Given the description of an element on the screen output the (x, y) to click on. 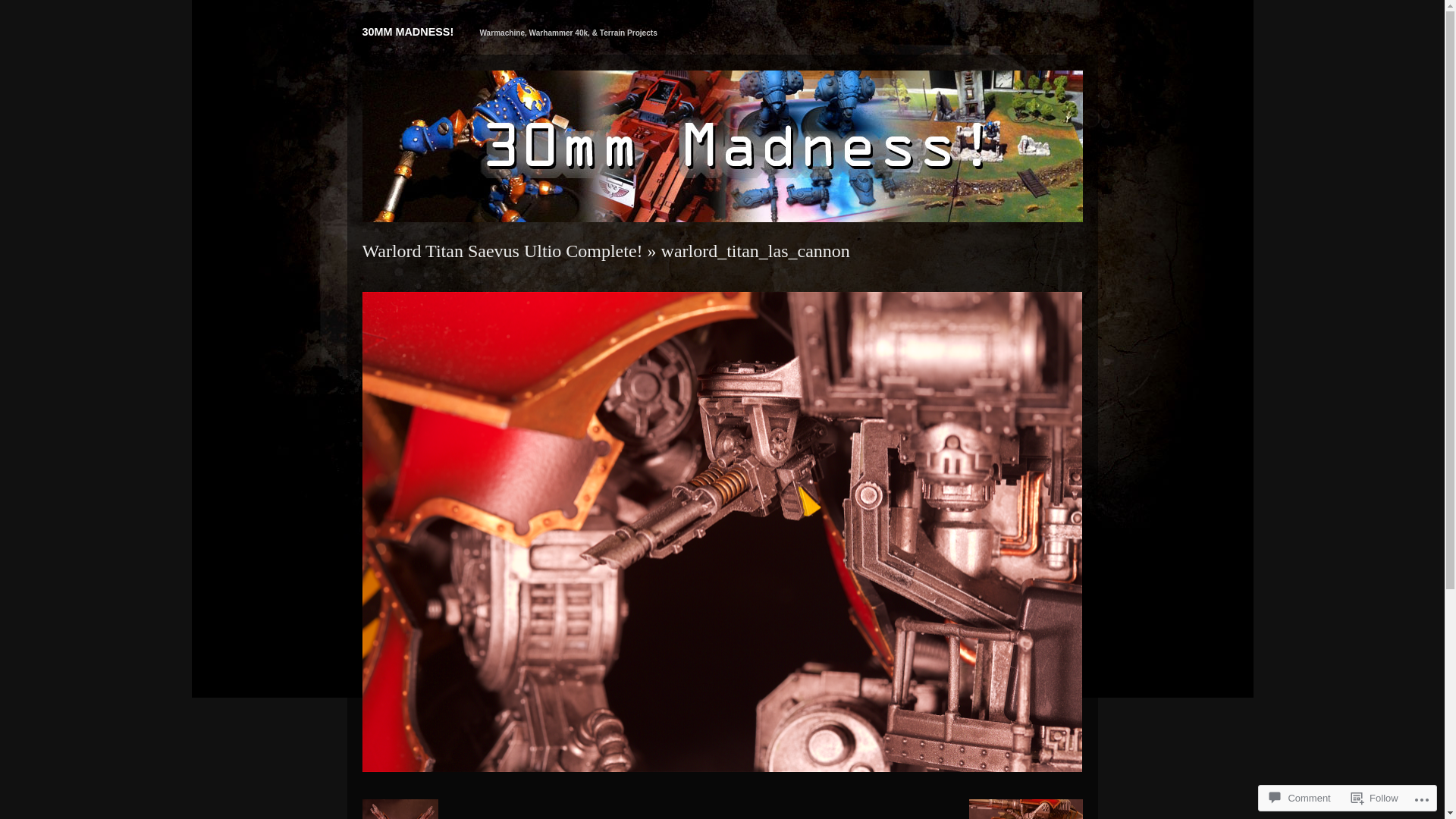
Warlord Titan Saevus Ultio Complete! Element type: text (502, 250)
Comment Element type: text (1299, 797)
30MM MADNESS! Element type: text (408, 31)
Follow Element type: text (1374, 797)
